Given the description of an element on the screen output the (x, y) to click on. 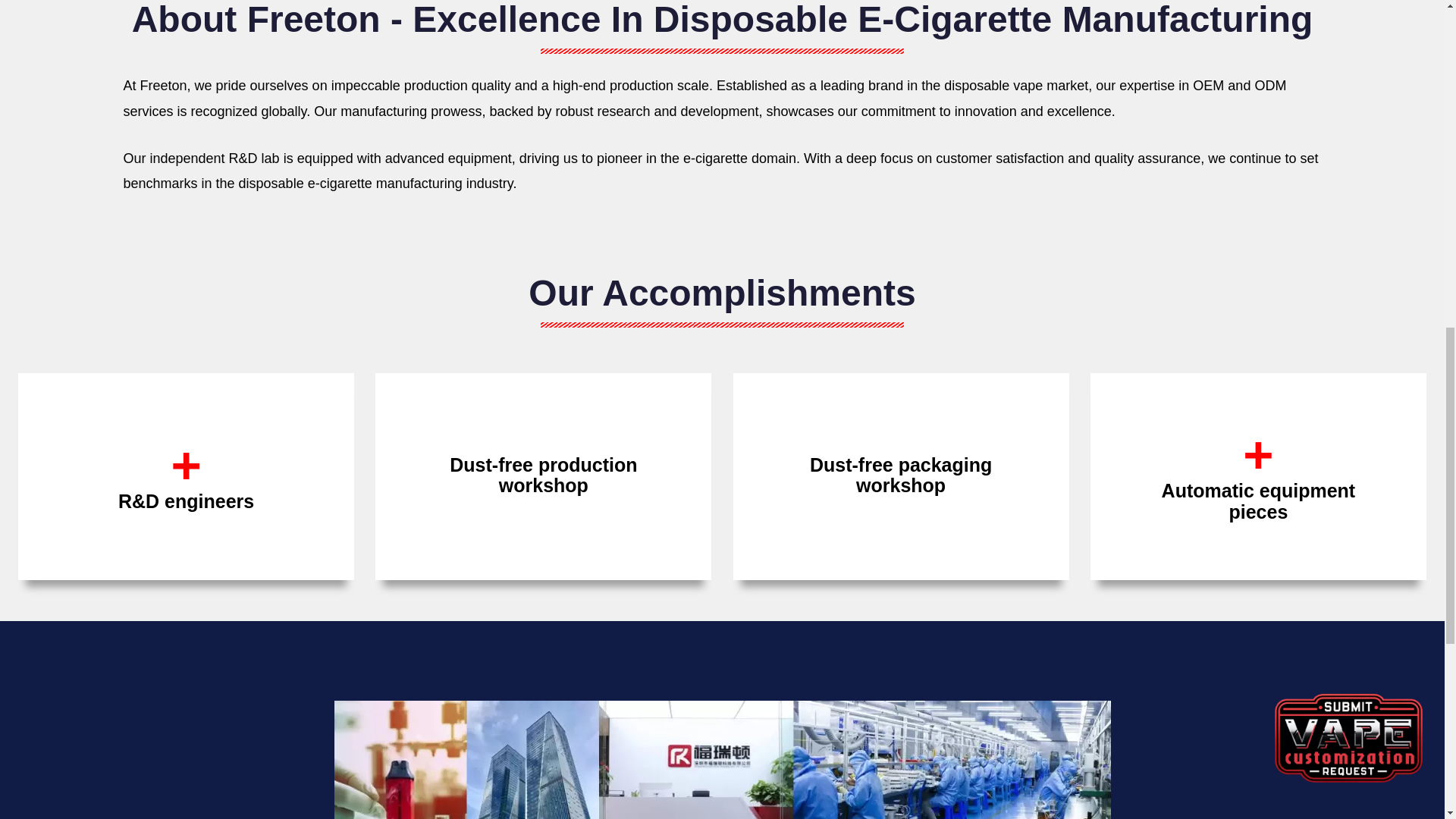
disposable vape (992, 85)
